Given the description of an element on the screen output the (x, y) to click on. 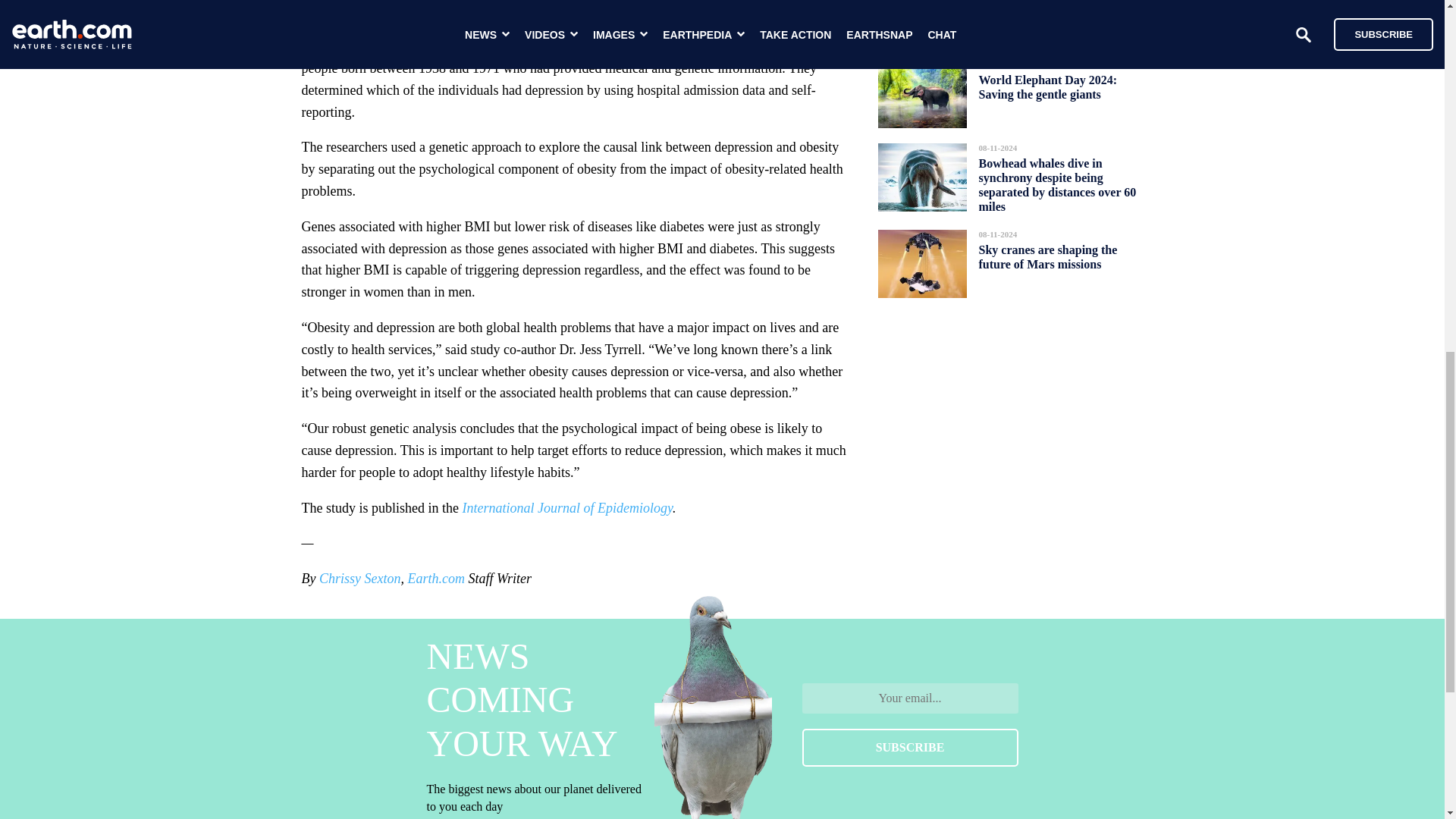
Sky cranes are shaping the future of Mars missions (1047, 256)
World Elephant Day 2024: Saving the gentle giants (1047, 87)
Earth.com (435, 578)
Girls are more worried about climate change than boys (1054, 12)
Chrissy Sexton (359, 578)
International Journal of Epidemiology (566, 507)
